Given the description of an element on the screen output the (x, y) to click on. 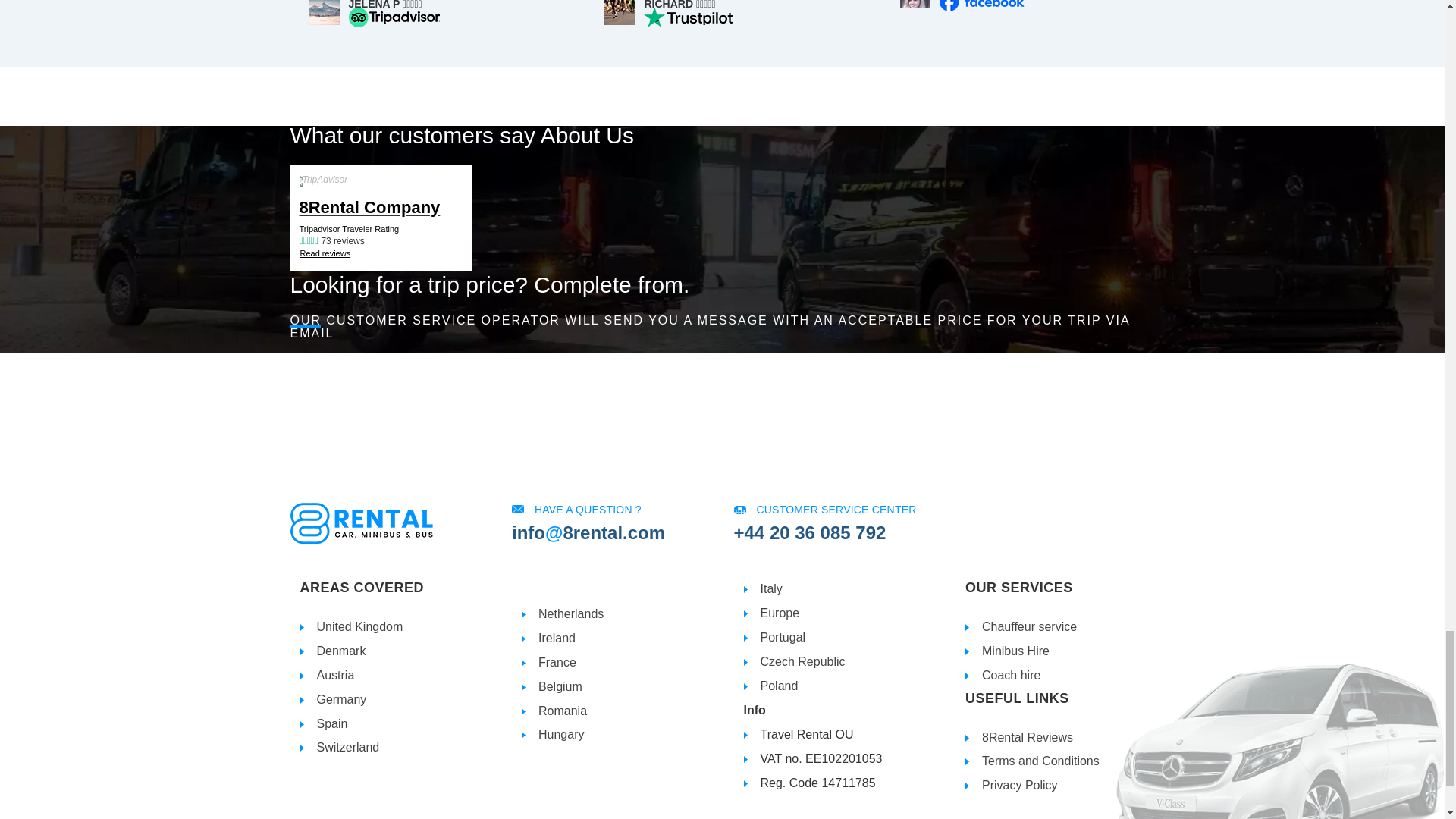
Ireland (556, 637)
Belgium (560, 686)
Europe (779, 612)
Romania (562, 710)
Denmark (341, 650)
Switzerland (348, 747)
8rental company logo (360, 523)
Read reviews (324, 252)
Hungary (560, 734)
Germany (341, 698)
Netherlands (571, 613)
United Kingdom (360, 626)
8Rental Company (380, 207)
Portugal (782, 636)
Czech Republic (802, 661)
